Given the description of an element on the screen output the (x, y) to click on. 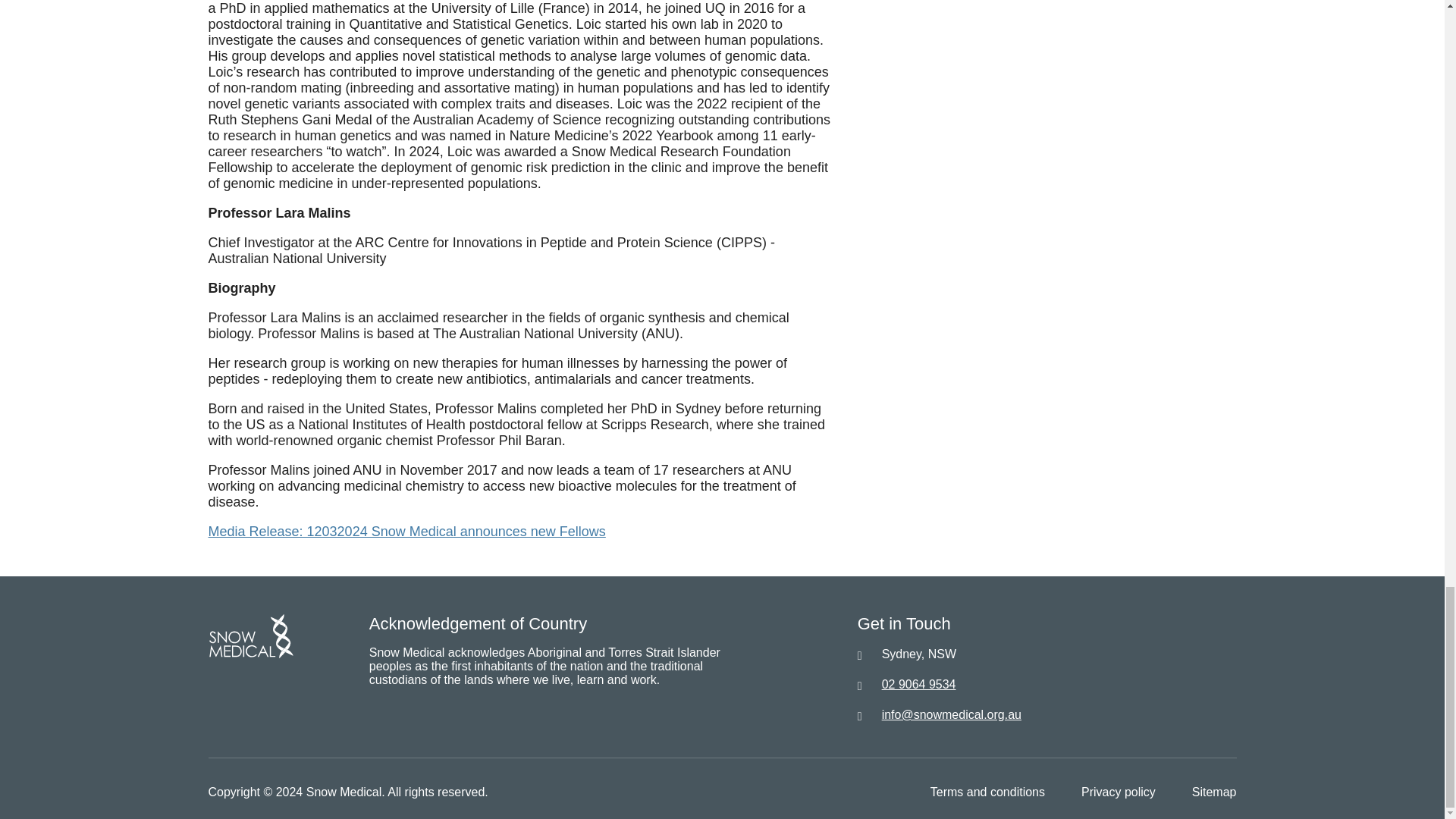
Media Release: 12032024 Snow Medical announces new Fellows (406, 531)
